Given the description of an element on the screen output the (x, y) to click on. 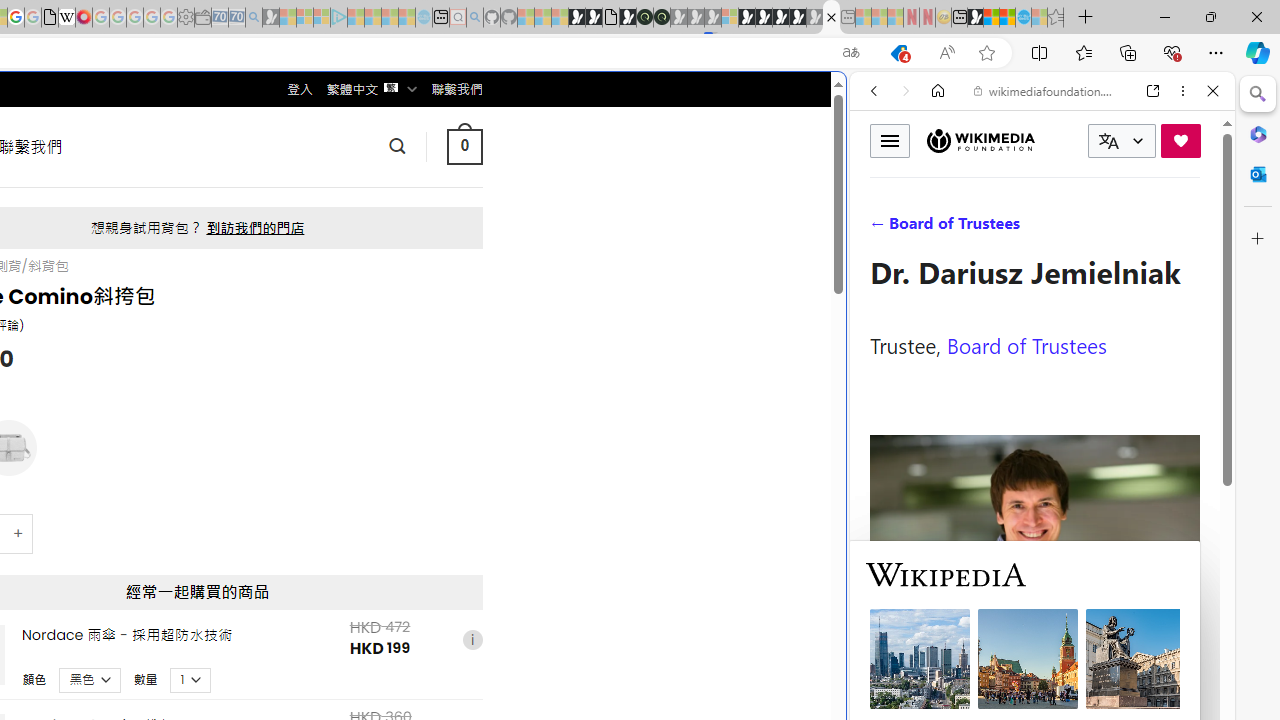
Wiktionary (1034, 669)
wikimediafoundation.org (1045, 90)
 0  (464, 146)
